Given the description of an element on the screen output the (x, y) to click on. 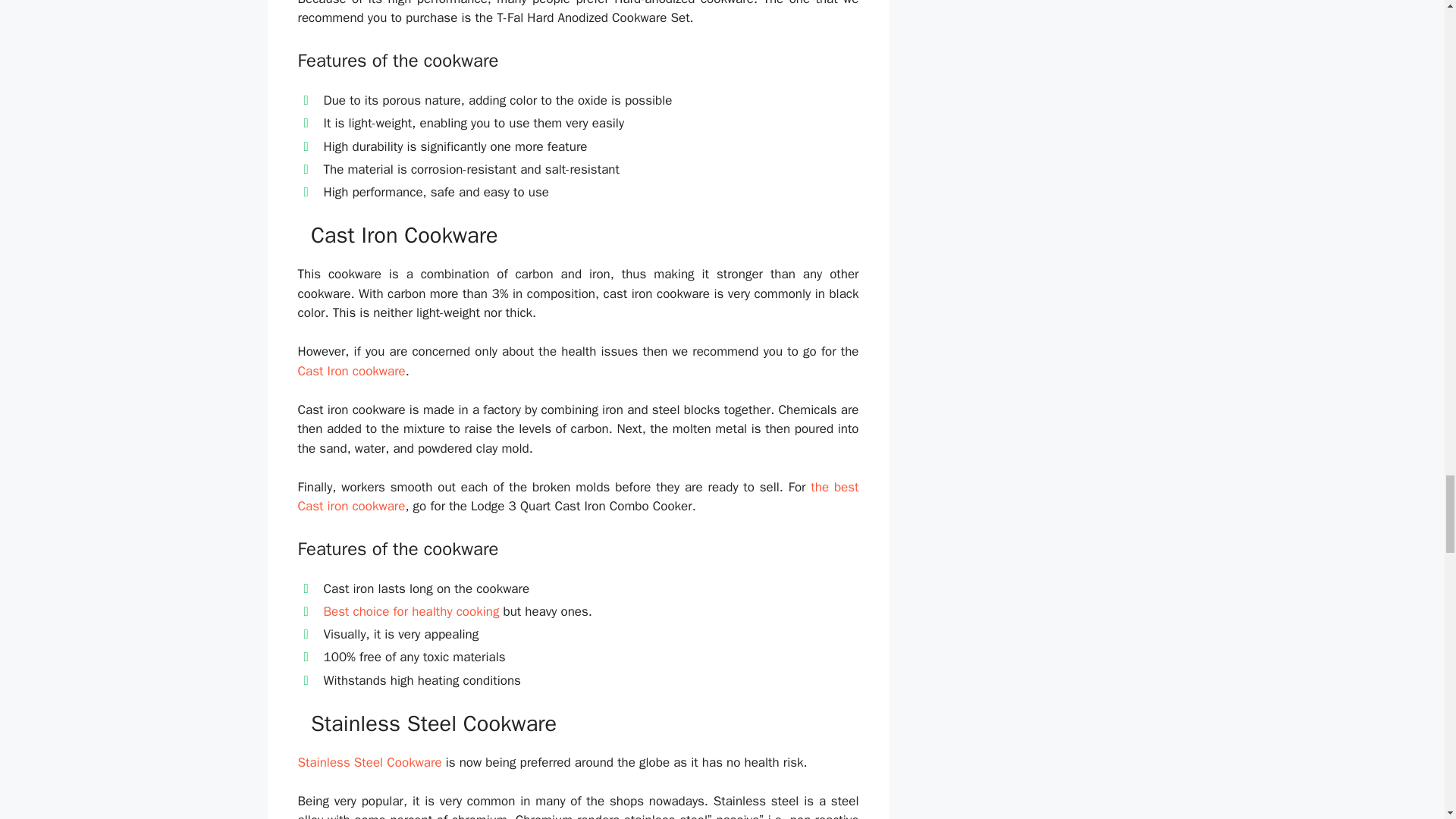
Cast Iron cookware (350, 371)
Best choice for healthy cooking (411, 611)
the best Cast iron cookware (578, 497)
Stainless Steel Cookware (369, 762)
